Given the description of an element on the screen output the (x, y) to click on. 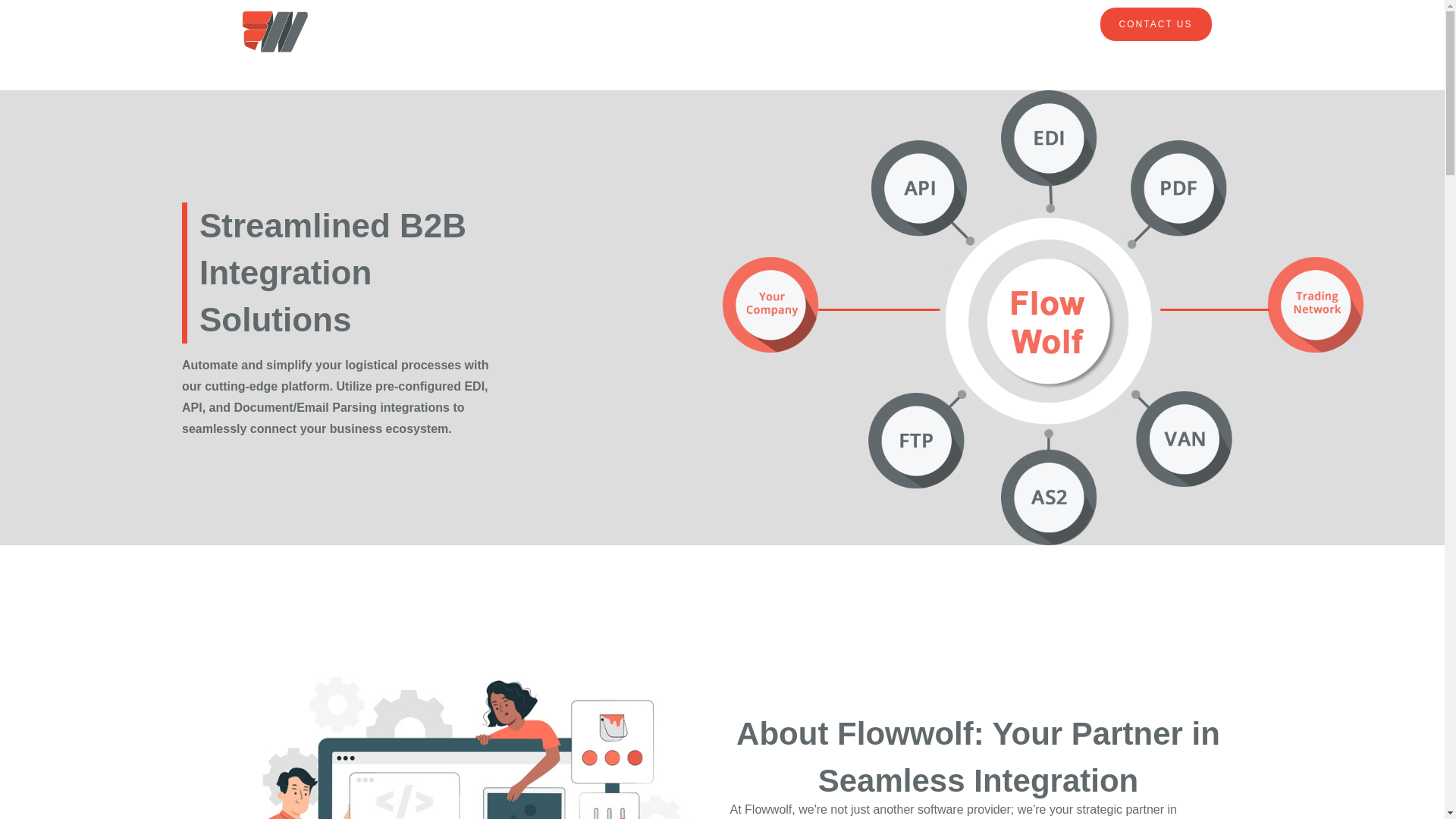
CONTACT US (1155, 23)
